Given the description of an element on the screen output the (x, y) to click on. 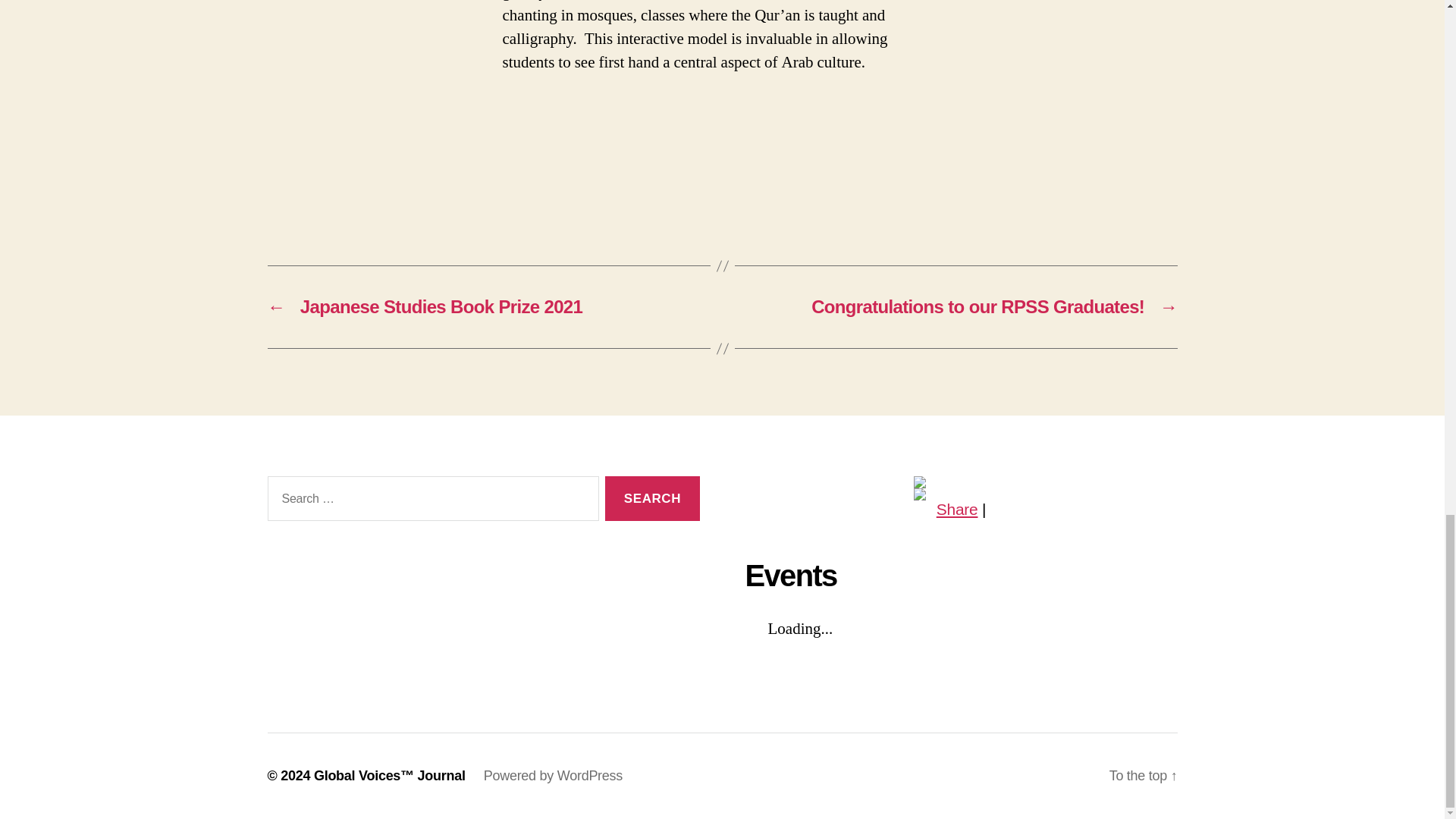
Search (651, 497)
Search (651, 497)
